Given the description of an element on the screen output the (x, y) to click on. 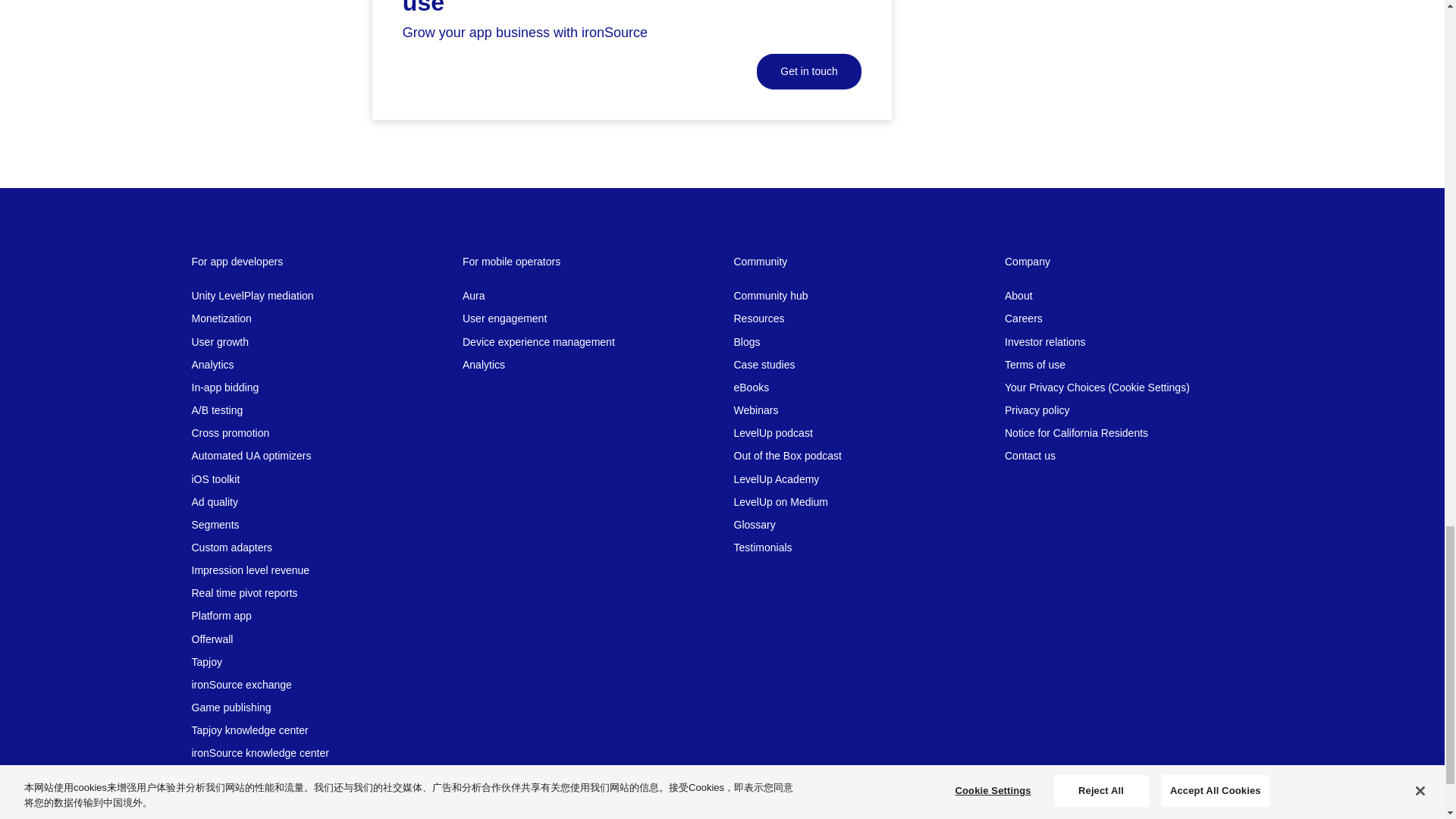
Iron Source (242, 809)
